Given the description of an element on the screen output the (x, y) to click on. 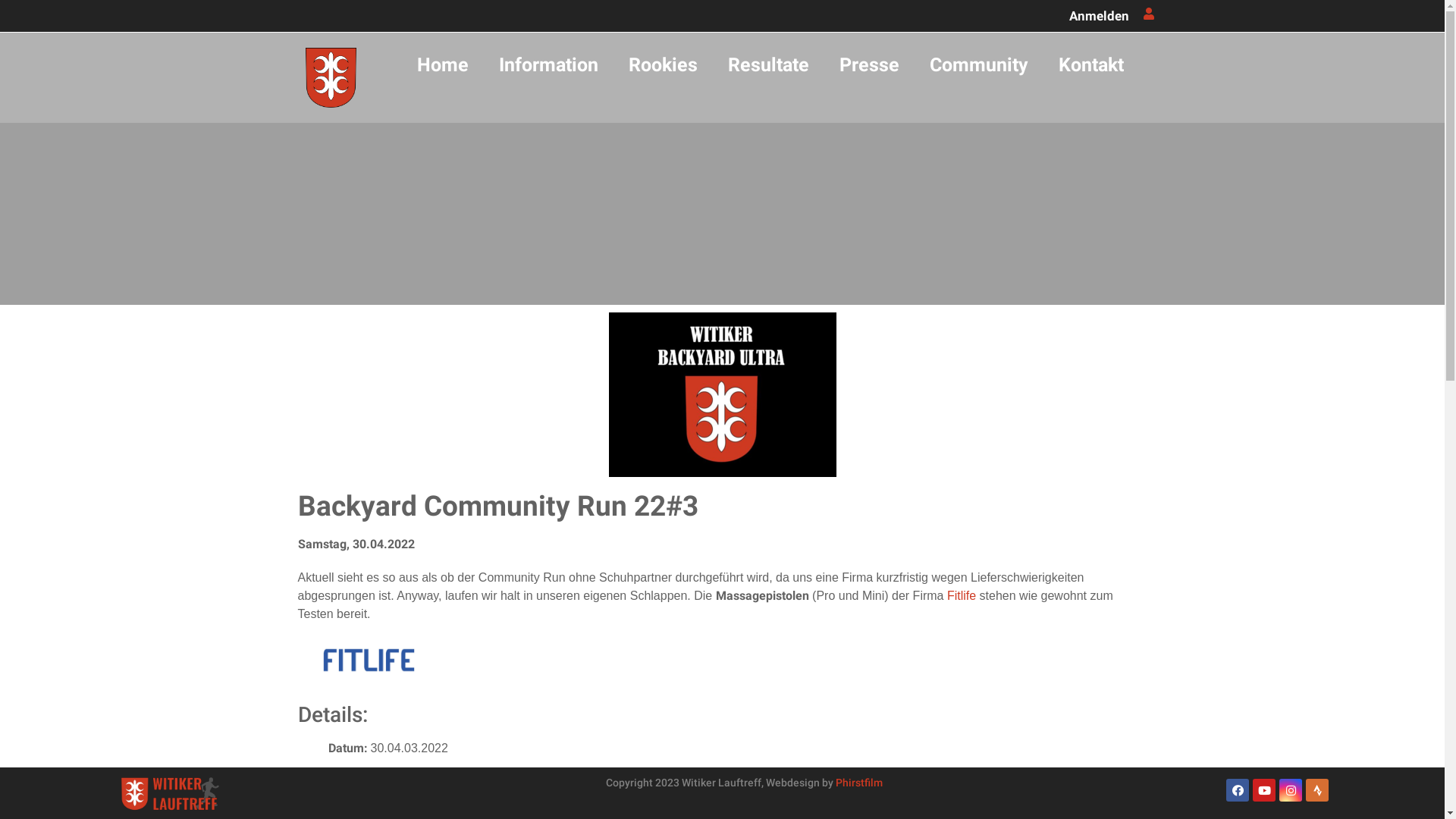
Phirstfilm Element type: text (858, 782)
Information Element type: text (548, 64)
Presse Element type: text (869, 64)
Anmelden Element type: text (1099, 14)
Kontakt Element type: text (1091, 64)
Home Element type: text (442, 64)
Community Element type: text (978, 64)
Fitlife Element type: text (961, 595)
Resultate Element type: text (768, 64)
Rookies Element type: text (662, 64)
